Given the description of an element on the screen output the (x, y) to click on. 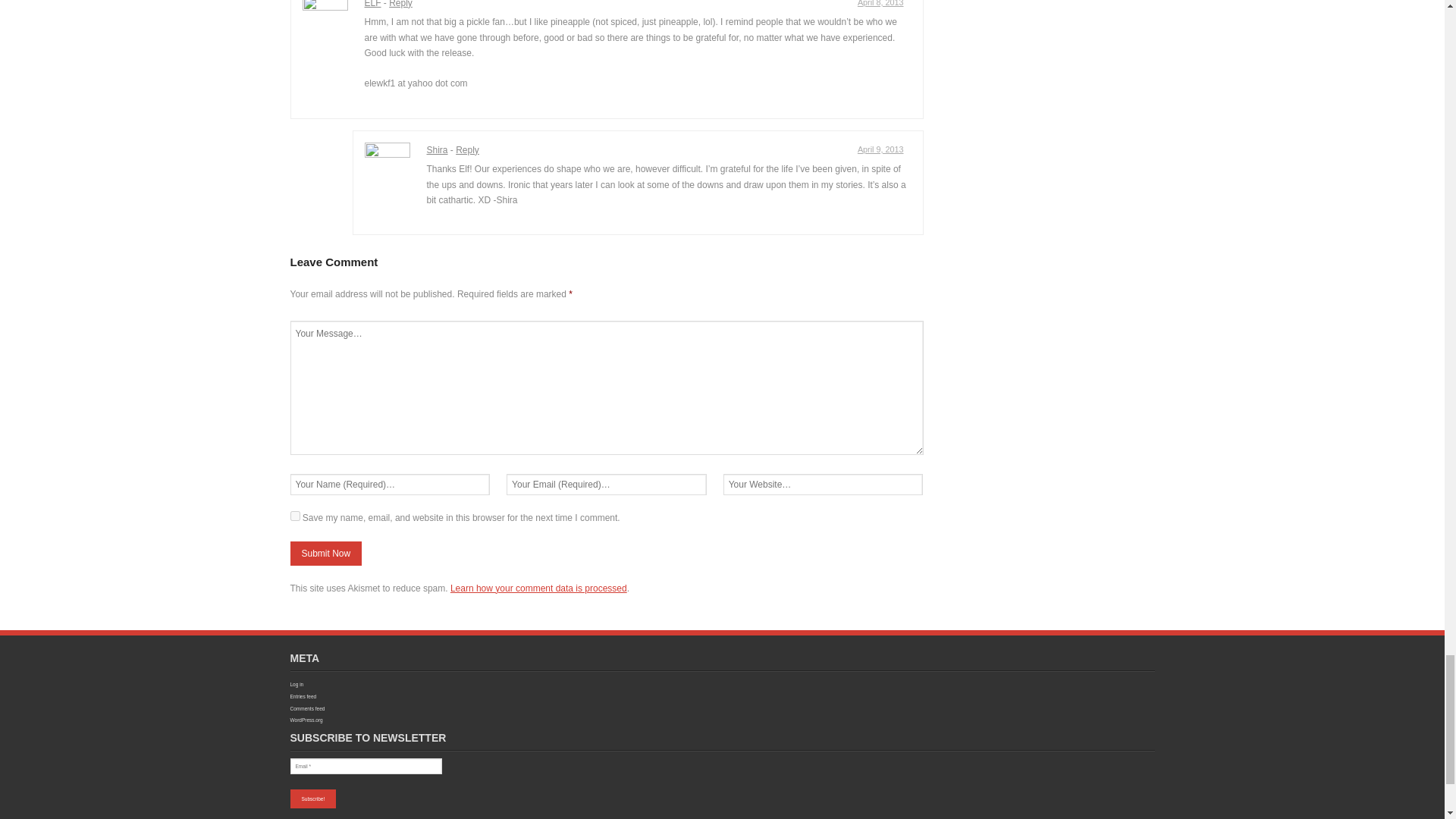
Submit Now (325, 553)
Email (365, 765)
Subscribe! (312, 798)
yes (294, 515)
